Given the description of an element on the screen output the (x, y) to click on. 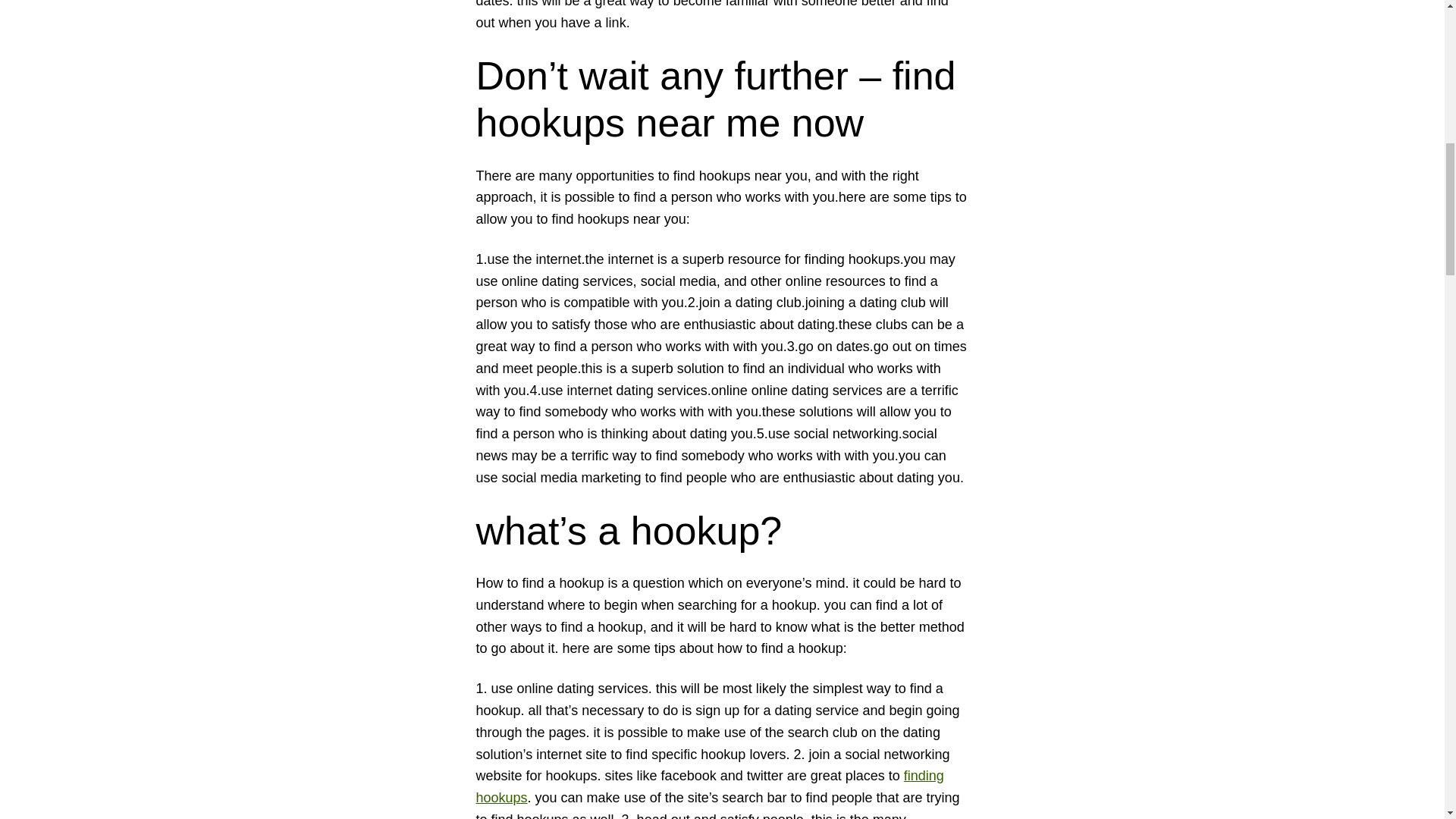
finding hookups (709, 786)
